Given the description of an element on the screen output the (x, y) to click on. 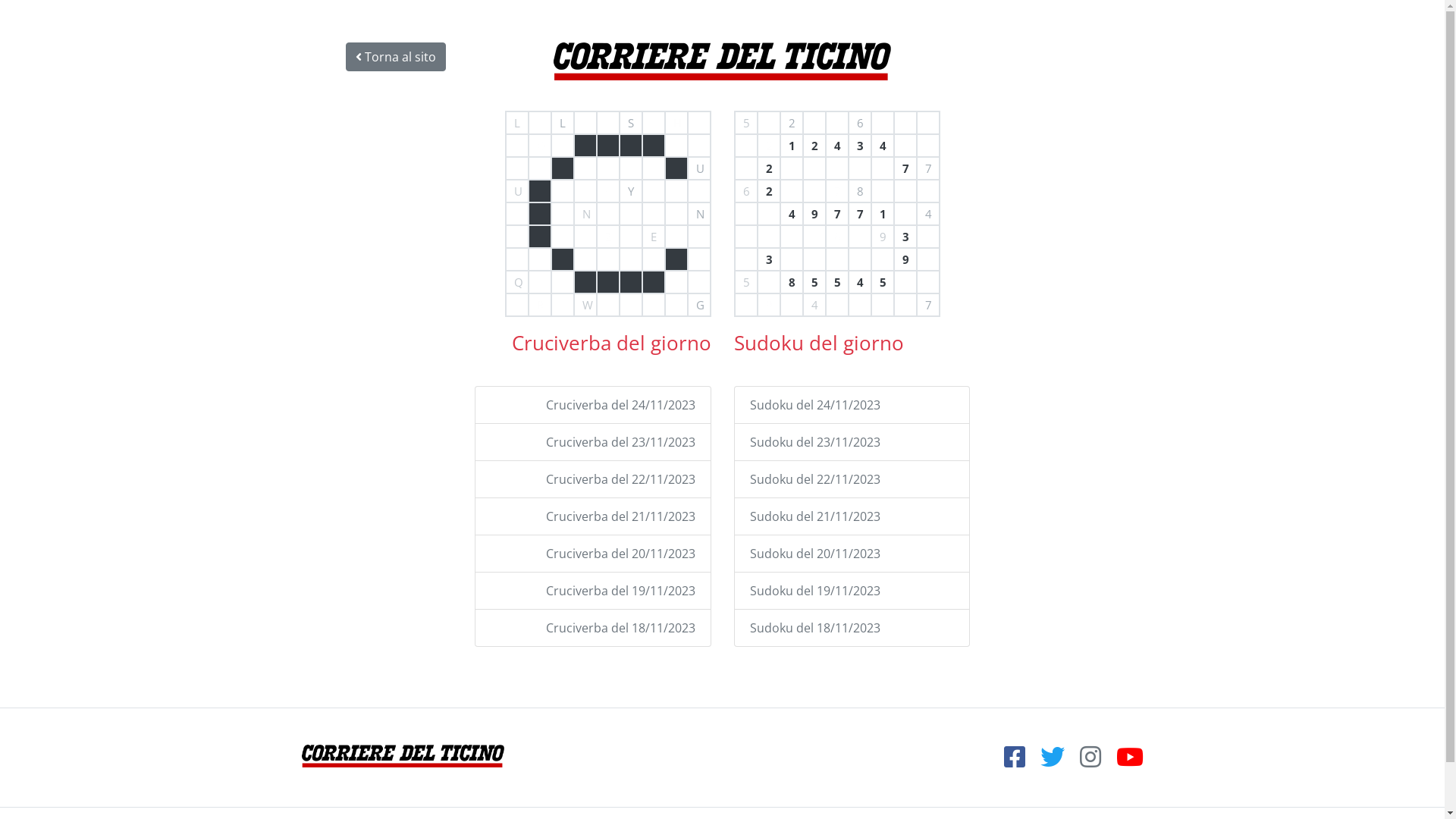
L
L
S
H
O
U
U
C
Y
N
N
Z
E
Q
R
W
G
Cruciverba del giorno Element type: text (528, 329)
Cruciverba del 18/11/2023 Element type: text (620, 627)
Sudoku del 18/11/2023 Element type: text (814, 627)
Cruciverba del 22/11/2023 Element type: text (620, 478)
twitter corriere del ticino Element type: hover (1047, 761)
Cruciverba del 23/11/2023 Element type: text (620, 441)
instagram corriere del ticino Element type: hover (1085, 761)
Cruciverba del 24/11/2023 Element type: text (620, 404)
Cruciverba del 20/11/2023 Element type: text (620, 553)
Sudoku del 22/11/2023 Element type: text (814, 478)
Cruciverba del 21/11/2023 Element type: text (620, 516)
Sudoku del 24/11/2023 Element type: text (814, 404)
Sudoku del 19/11/2023 Element type: text (814, 590)
Sudoku del 21/11/2023 Element type: text (814, 516)
Torna al sito Element type: text (395, 56)
Sudoku del 23/11/2023 Element type: text (814, 441)
youtube corriere del ticino Element type: hover (1123, 761)
Cruciverba del 19/11/2023 Element type: text (620, 590)
facebook corriere del ticino Element type: hover (1016, 761)
Sudoku del 20/11/2023 Element type: text (814, 553)
